Given the description of an element on the screen output the (x, y) to click on. 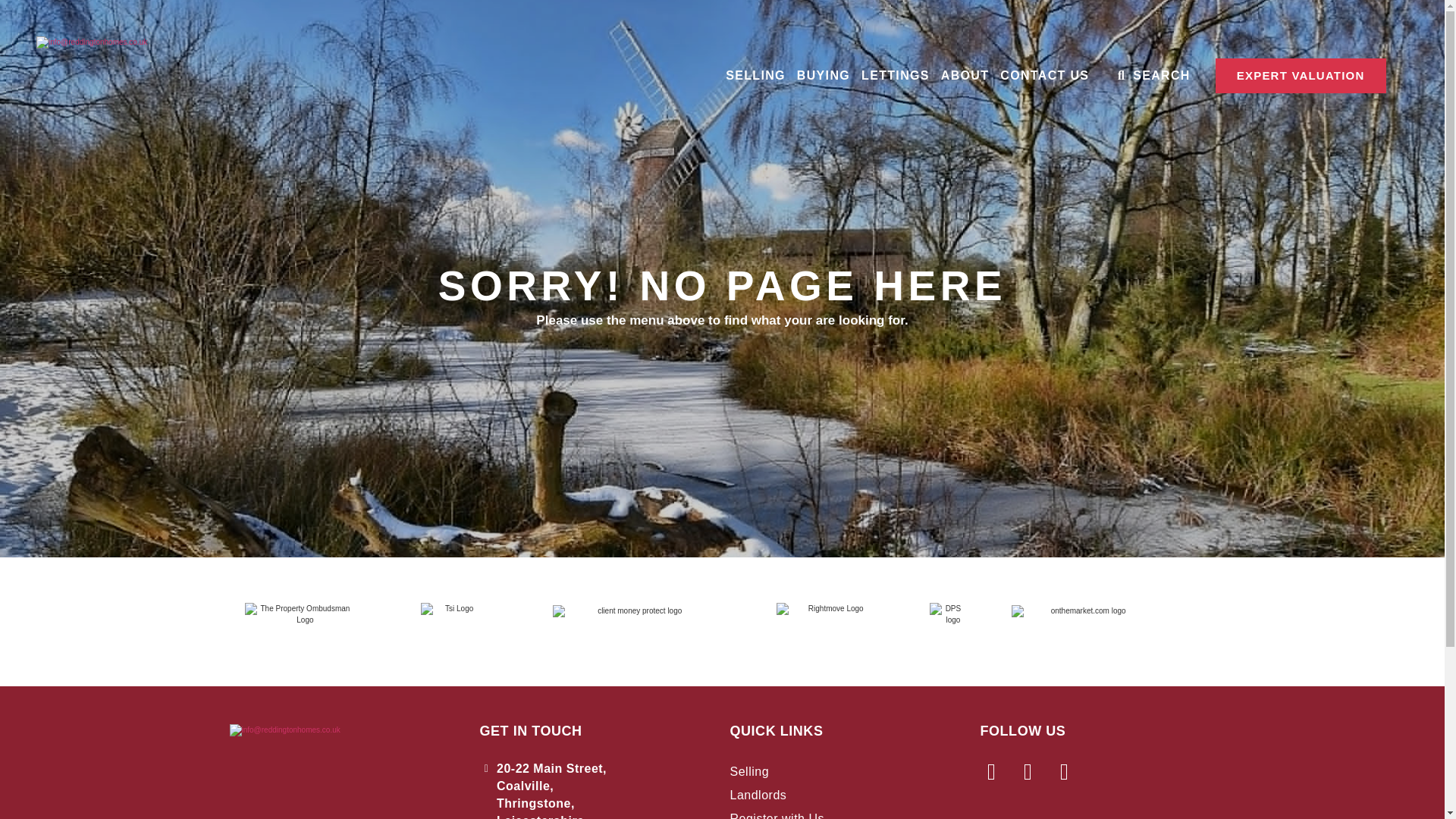
EXPERT VALUATION (1300, 75)
SEARCH (1152, 75)
SELLING (755, 75)
LETTINGS (895, 75)
CONTACT US (1044, 75)
BUYING (823, 75)
ABOUT (965, 75)
